Given the description of an element on the screen output the (x, y) to click on. 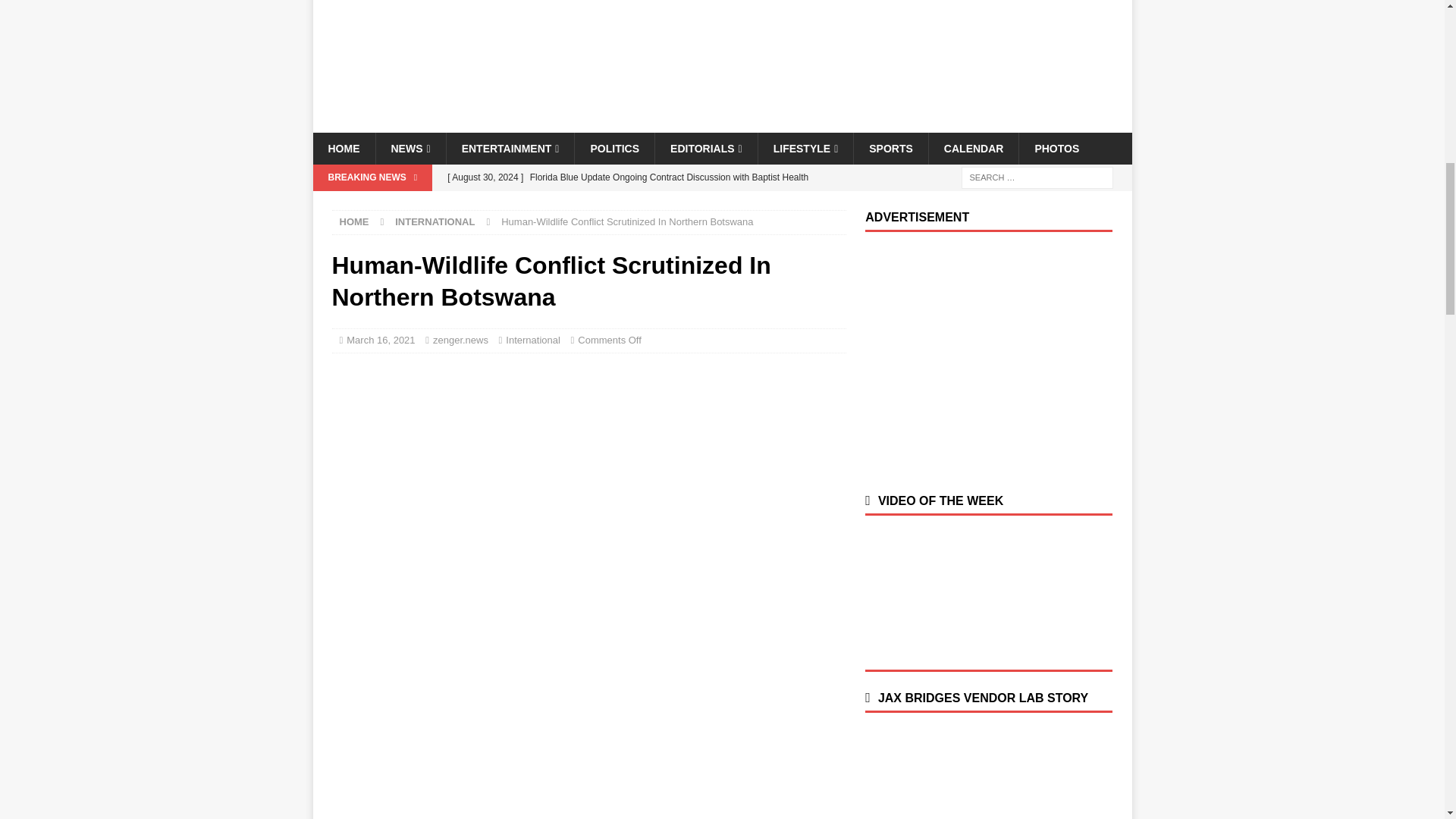
LIFESTYLE (805, 148)
POLITICS (613, 148)
Free Press of Jacksonville (722, 123)
ENTERTAINMENT (510, 148)
EDITORIALS (705, 148)
NEWS (409, 148)
HOME (343, 148)
SPORTS (890, 148)
CALENDAR (973, 148)
